Given the description of an element on the screen output the (x, y) to click on. 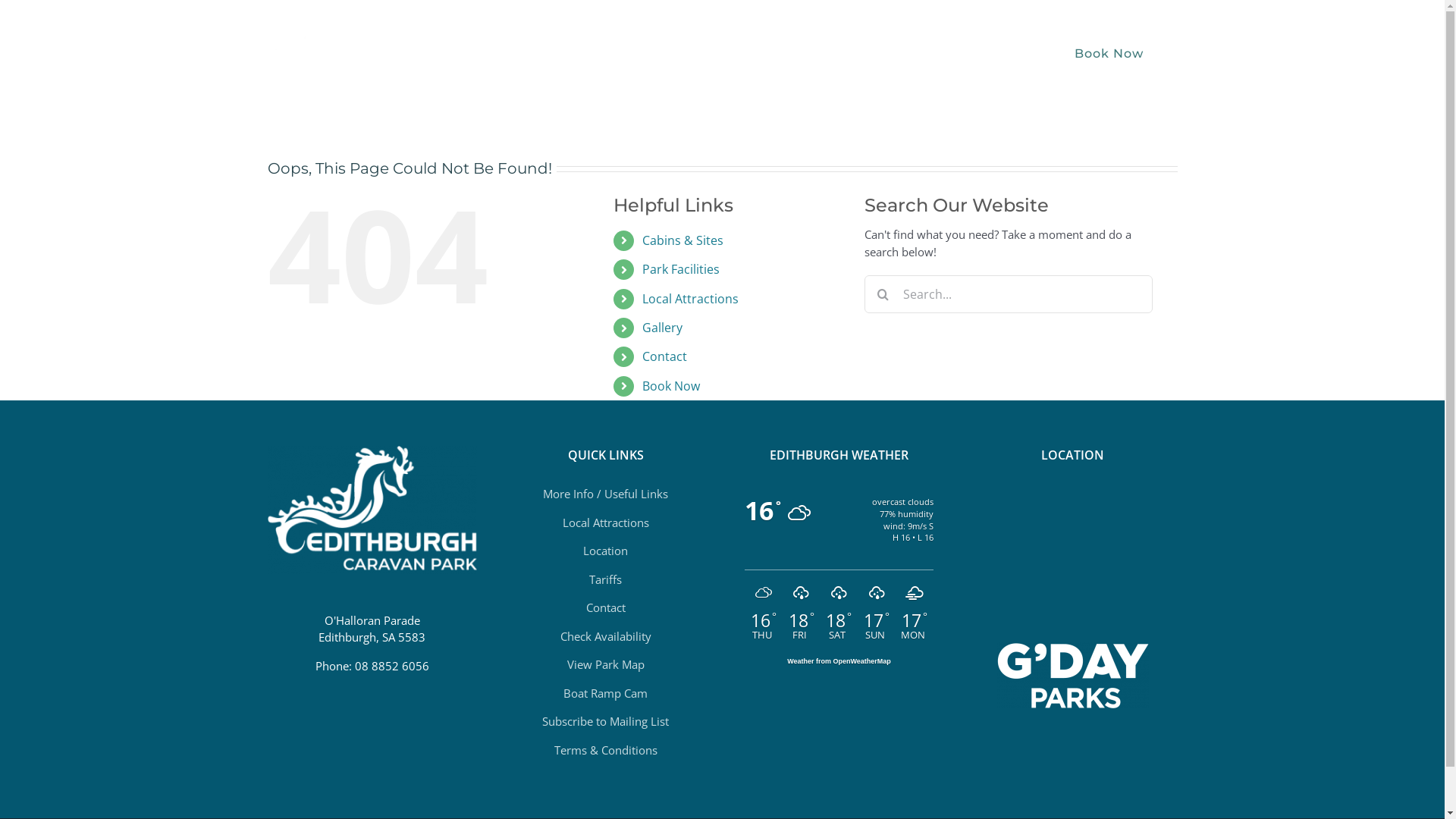
Local Attractions Element type: text (842, 53)
Park Facilities Element type: text (680, 268)
Tariffs Element type: text (605, 578)
Cabins & Sites Element type: text (604, 53)
Boat Ramp Cam Element type: text (605, 692)
Book Now Element type: text (670, 385)
Local Attractions Element type: text (690, 298)
Location Element type: text (605, 550)
Contact Element type: text (604, 607)
Check Availability Element type: text (604, 635)
Contact Element type: text (664, 356)
Gallery Element type: text (942, 53)
Subscribe to Mailing List Element type: text (605, 720)
Gallery Element type: text (662, 327)
Local Attractions Element type: text (605, 522)
More Info / Useful Links Element type: text (605, 493)
View Park Map Element type: text (605, 663)
Book Now Element type: text (1107, 53)
Terms & Conditions Element type: text (604, 749)
Cabins & Sites Element type: text (682, 240)
Contact Element type: text (1012, 53)
Park Facilities Element type: text (719, 53)
